Given the description of an element on the screen output the (x, y) to click on. 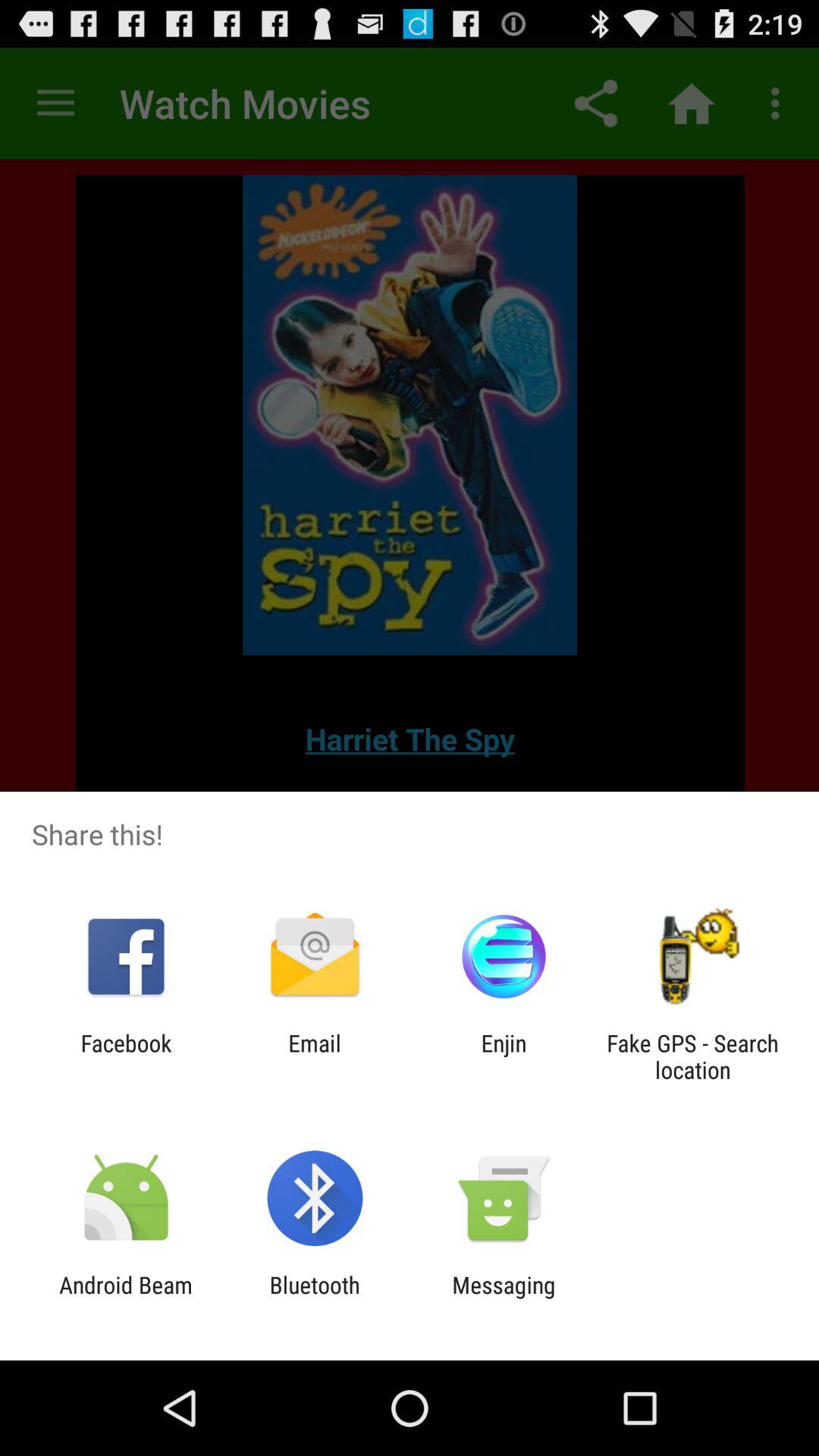
turn on icon next to android beam (314, 1298)
